Given the description of an element on the screen output the (x, y) to click on. 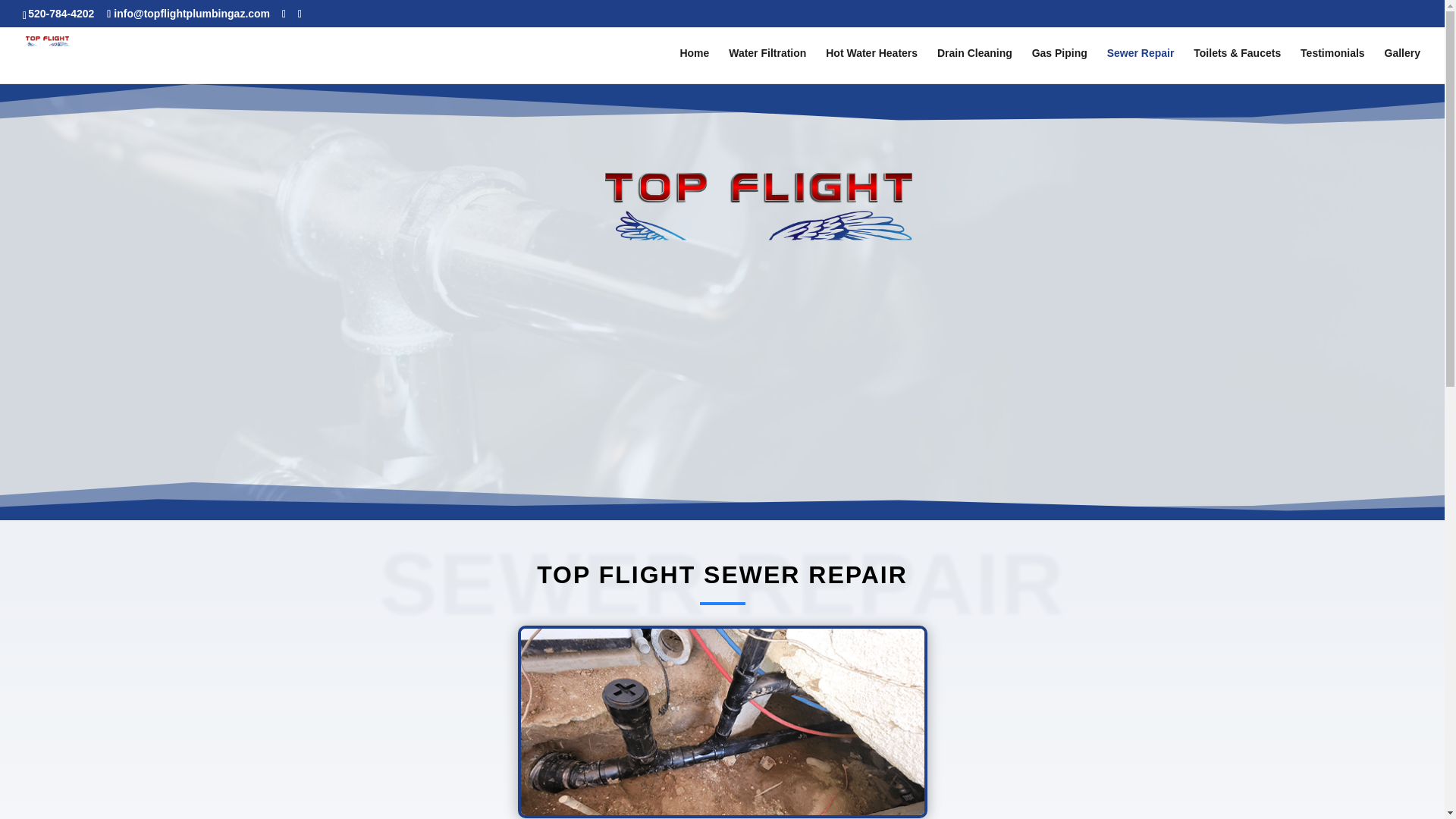
Drain Cleaning (974, 65)
Top Flight Plumbing Logo (758, 288)
Gallery (1402, 65)
Testimonials (1332, 65)
Hot Water Heaters (871, 65)
Water Filtration (767, 65)
Gas Piping (1059, 65)
sewer-final (721, 721)
Sewer Repair (1140, 65)
